Given the description of an element on the screen output the (x, y) to click on. 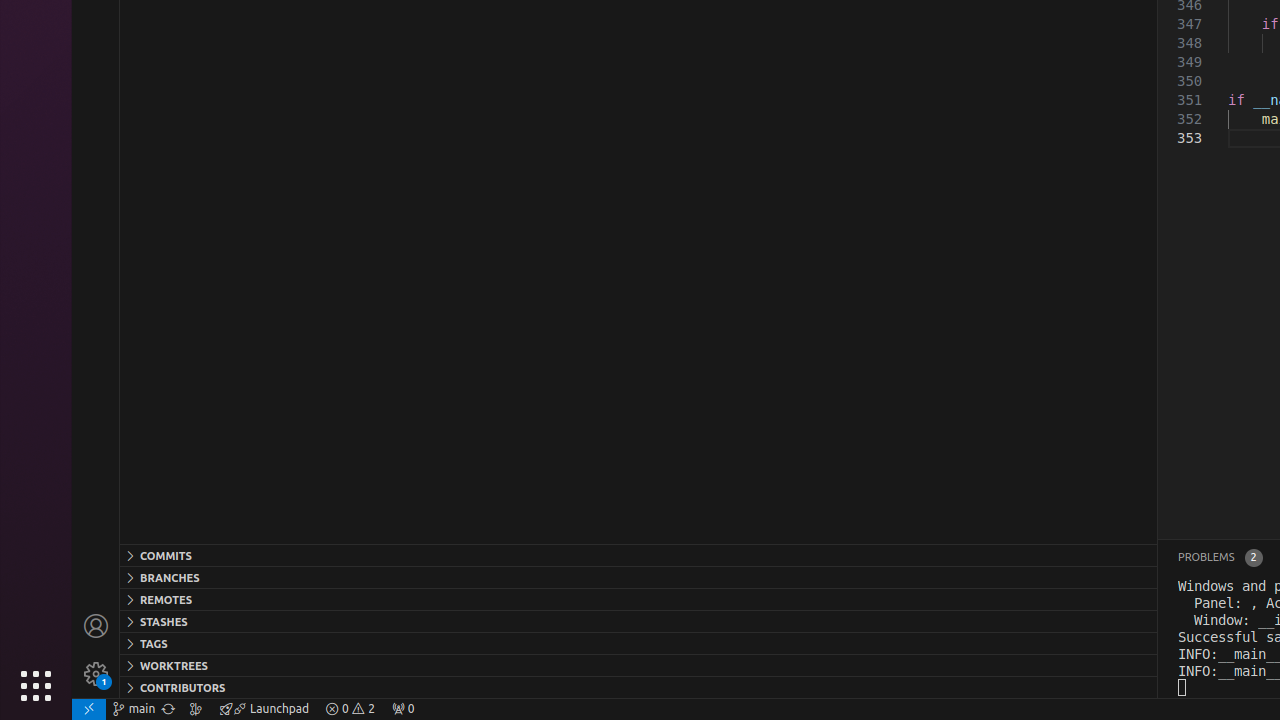
OSWorld (Git) - Synchronize Changes Element type: push-button (168, 709)
Warnings: 2 Element type: push-button (350, 709)
Problems (Ctrl+Shift+M) - Total 2 Problems Element type: page-tab (1219, 557)
remote Element type: push-button (89, 709)
